Given the description of an element on the screen output the (x, y) to click on. 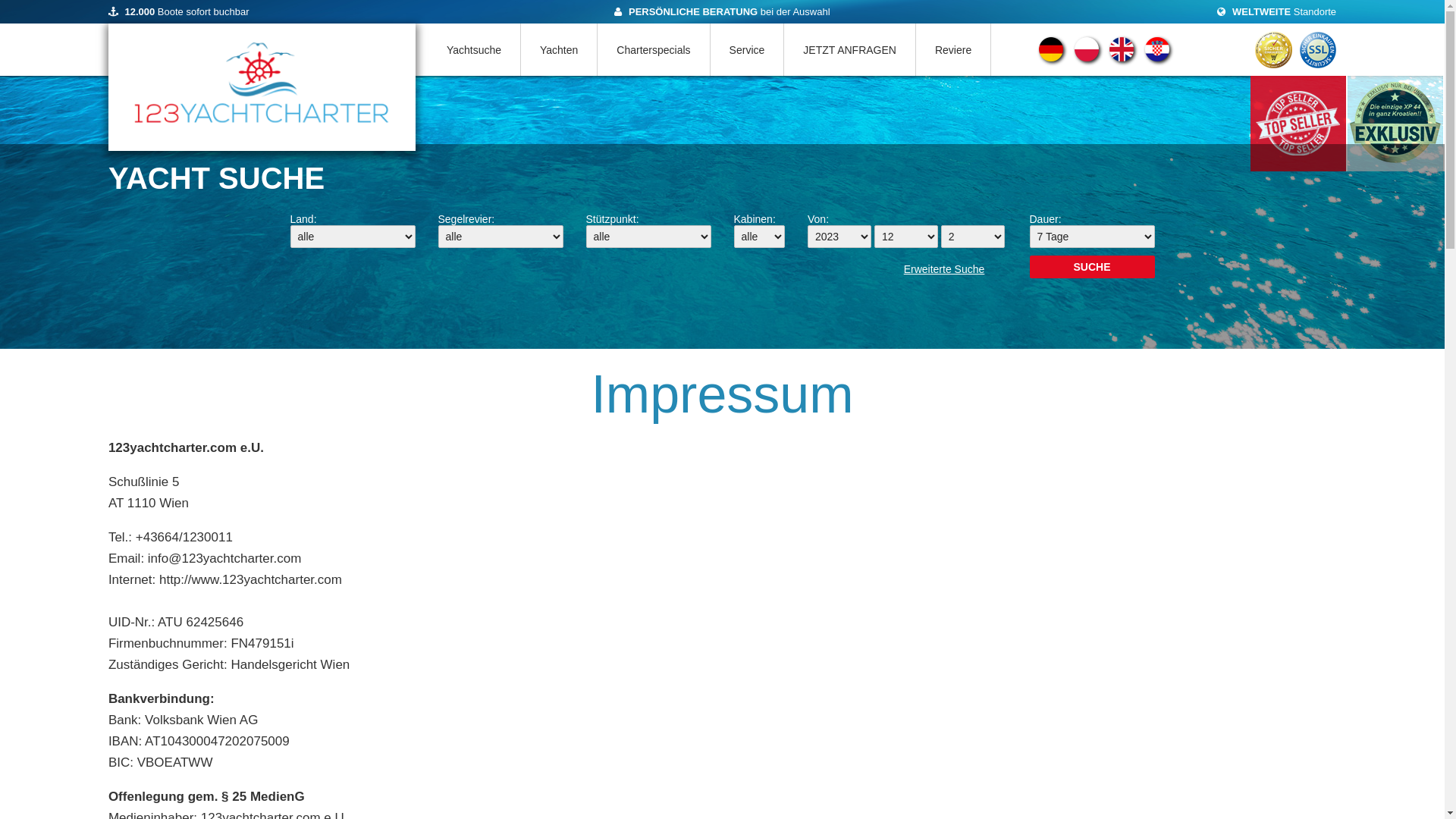
Service Element type: text (747, 49)
POLSKI Element type: hover (1086, 57)
Charterspecials Element type: text (653, 49)
DEUTSCH Element type: hover (1050, 57)
JETZT ANFRAGEN Element type: text (850, 49)
Preishit Element type: hover (1298, 123)
Yachtsuche Element type: text (473, 49)
123YACHTCHARTER Element type: hover (261, 86)
HRVATSKI JEZIK Element type: hover (1157, 57)
Yachten Element type: text (558, 49)
Reviere Element type: text (953, 49)
ENGLISH Element type: hover (1121, 57)
